Given the description of an element on the screen output the (x, y) to click on. 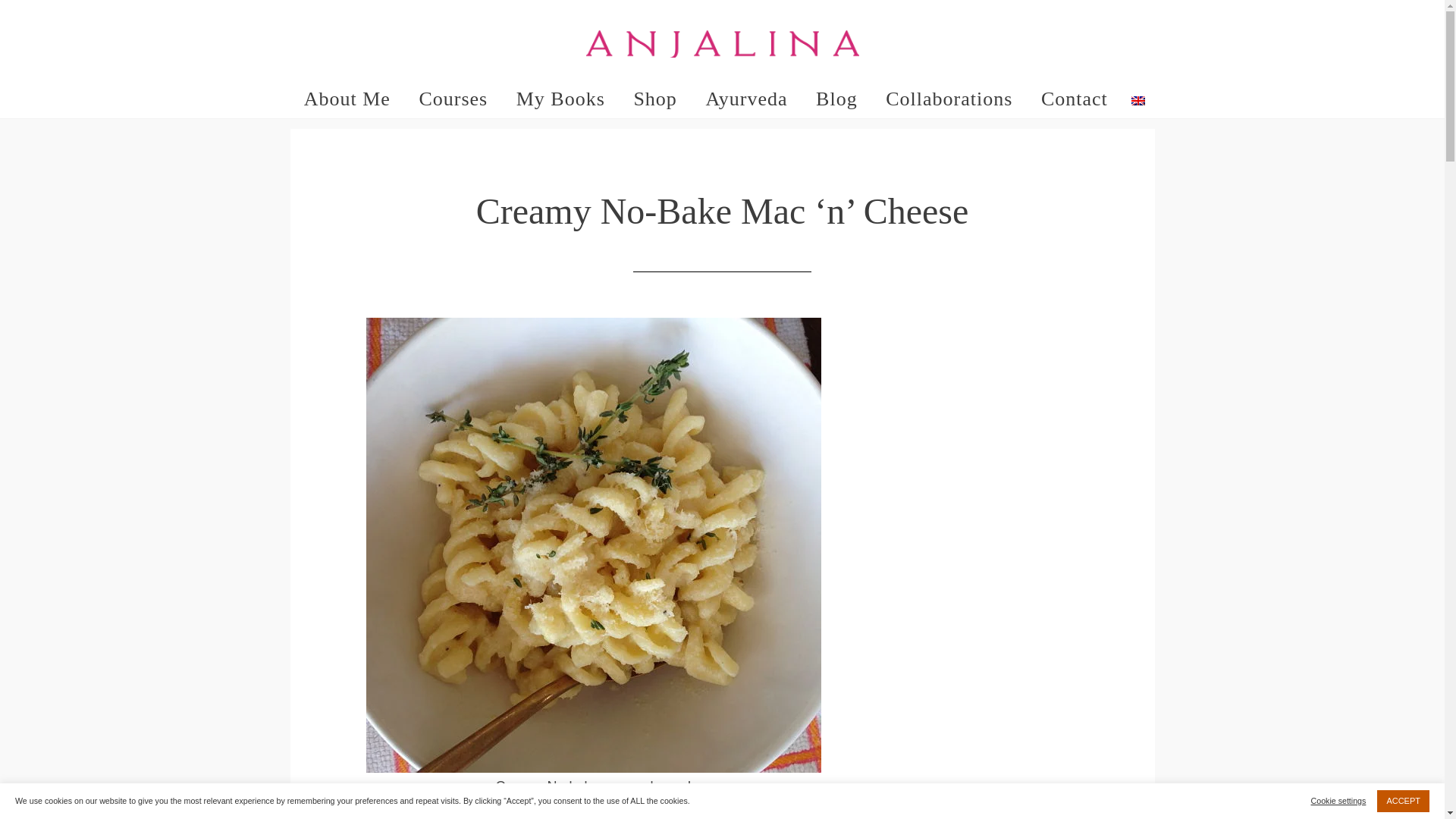
My Books (560, 99)
Cookie settings (1339, 800)
Contact (1074, 99)
Blog (836, 99)
Collaborations (949, 99)
About Me (347, 99)
ACCEPT (1403, 801)
Shop (654, 99)
SOUL SPICES KITCHEN (722, 45)
Ayurveda (746, 99)
